Given the description of an element on the screen output the (x, y) to click on. 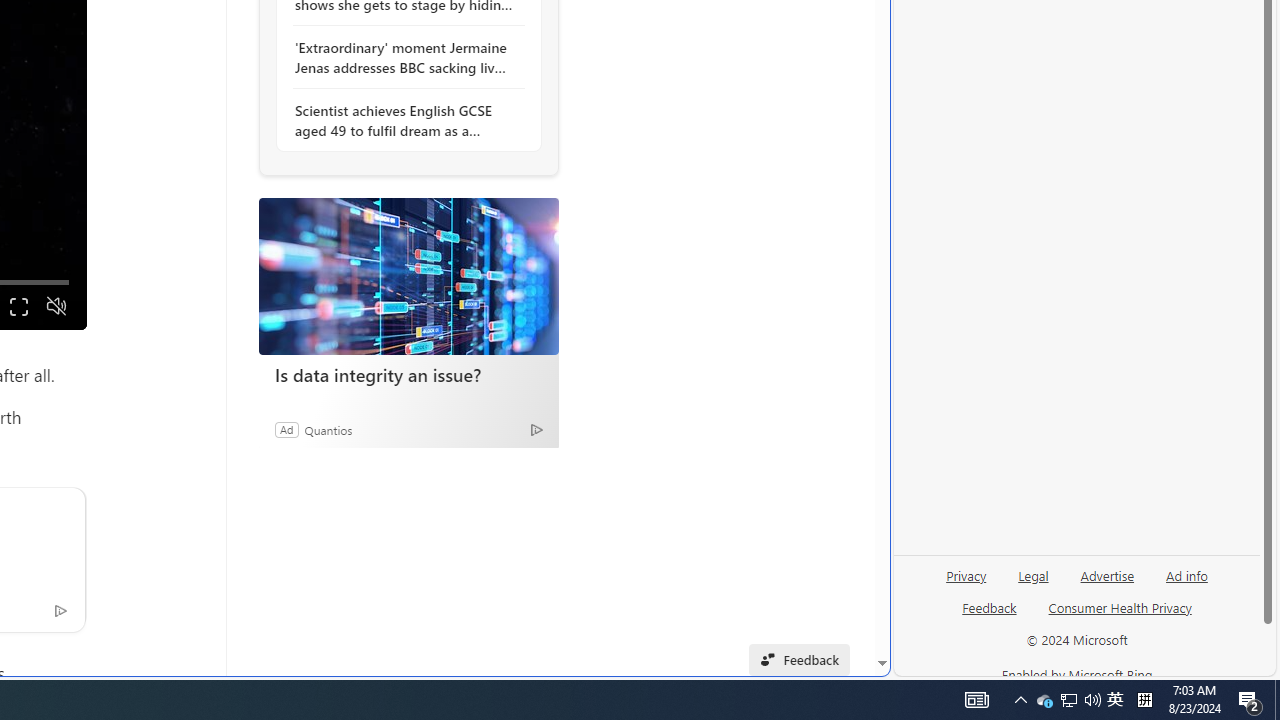
Quantios (328, 429)
MSN (687, 223)
Unmute (55, 306)
Consumer Health Privacy (1119, 615)
